Given the description of an element on the screen output the (x, y) to click on. 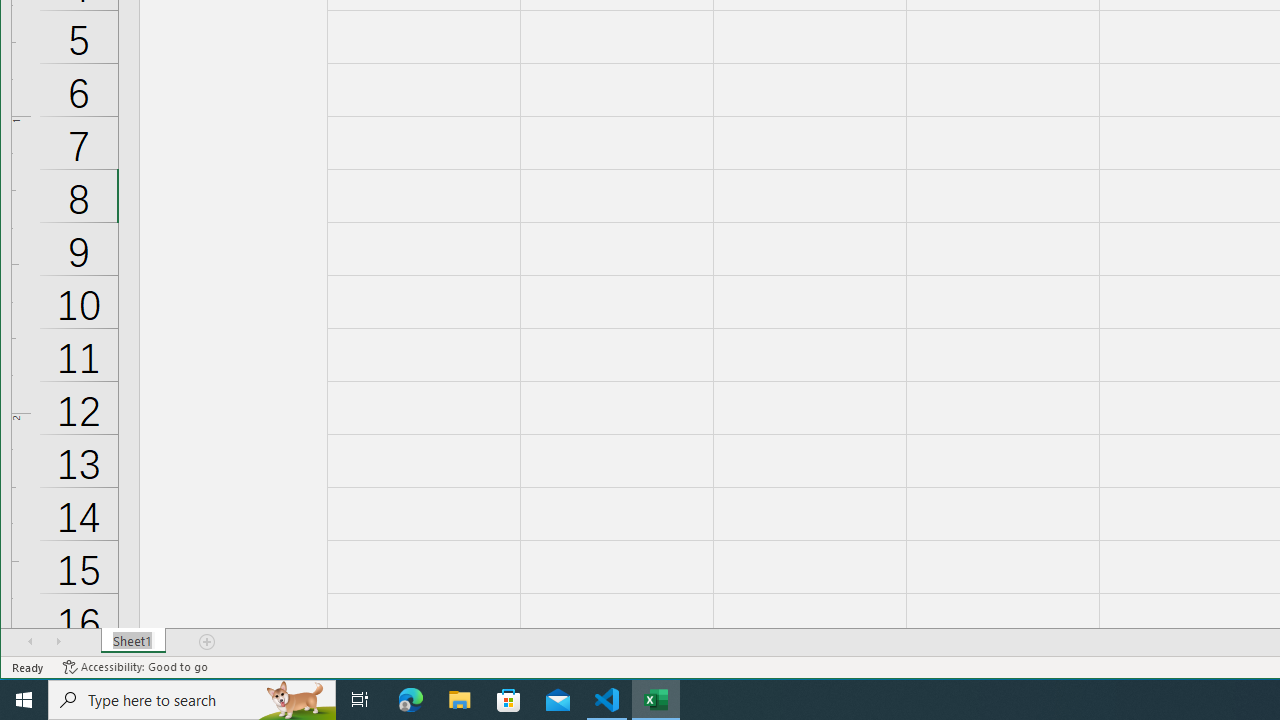
File Explorer (460, 699)
